Given the description of an element on the screen output the (x, y) to click on. 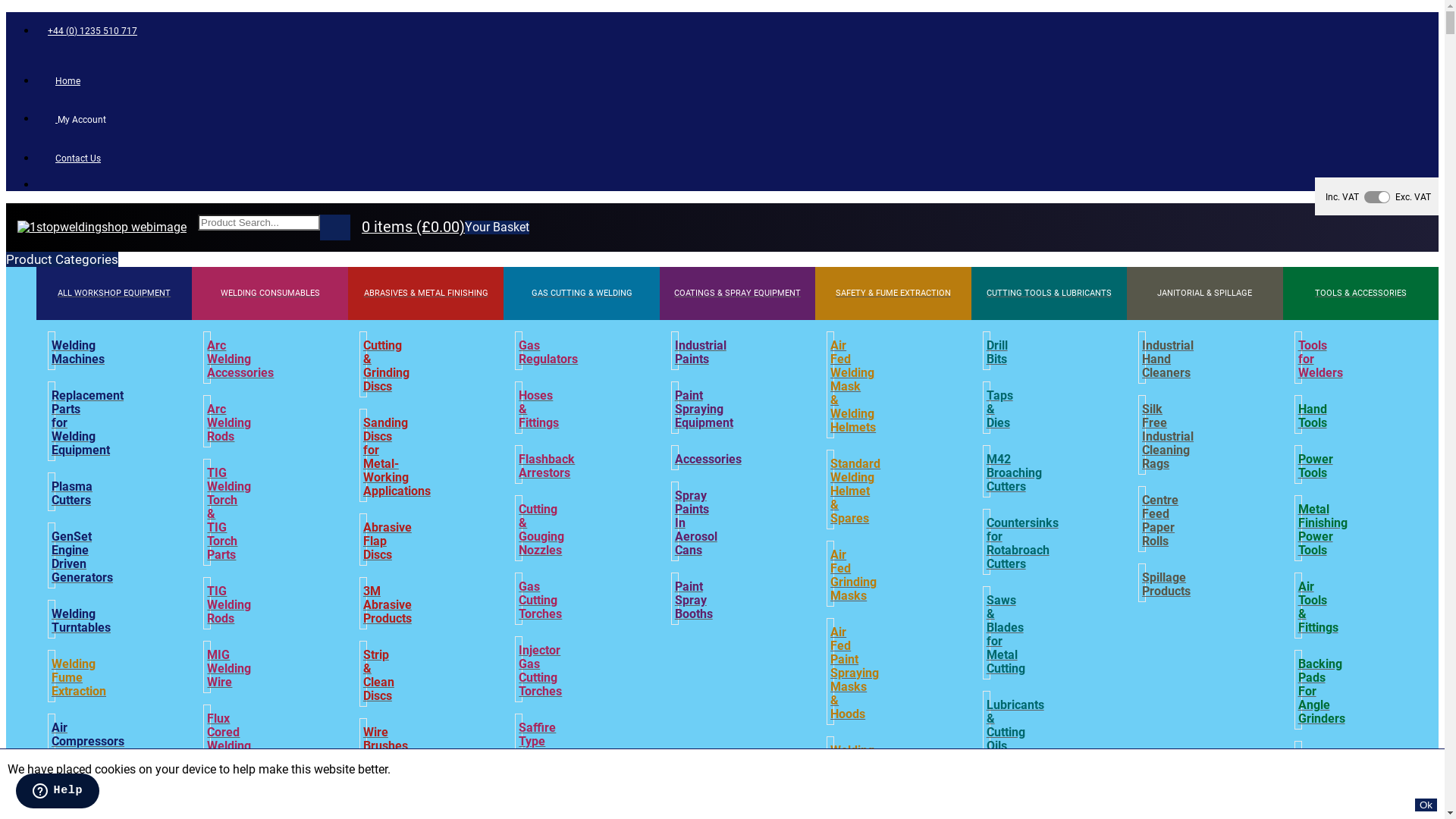
Strip & Clean Discs Element type: text (378, 675)
Spray Paints In Aerosol Cans Element type: text (695, 523)
Air Compressors Element type: text (87, 734)
Contact Us Element type: text (74, 157)
Saws & Blades for Metal Cutting Element type: text (1005, 634)
Sanding Discs for Metal-Working Applications Element type: text (396, 457)
Magnetic Drilling Machines Element type: text (77, 791)
TOOLS & ACCESSORIES Element type: text (1361, 293)
Industrial Hand Cleaners Element type: text (1167, 358)
Backing Pads For Angle Grinders Element type: text (1321, 691)
CUTTING TOOLS & LUBRICANTS Element type: text (1048, 293)
+44 (0) 1235 510 717 Element type: text (92, 29)
Power Tools Element type: text (1315, 466)
Hand Tools Element type: text (1312, 415)
GenSet Engine Driven Generators Element type: text (81, 557)
Arc Welding Accessories Element type: text (240, 358)
Replacement Parts for Welding Equipment Element type: text (87, 423)
COATINGS & SPRAY EQUIPMENT Element type: text (737, 293)
ABRASIVES & METAL FINISHING Element type: text (425, 293)
Tools for Welders Element type: text (1320, 358)
M42 Broaching Cutters Element type: text (1013, 472)
Industrial Paints Element type: text (700, 352)
Gas Regulators Element type: text (547, 352)
Ok Element type: text (1426, 804)
Cutting & Gouging Nozzles Element type: text (541, 529)
MIG Welding Wire Element type: text (229, 668)
Cutting & Grinding Discs Element type: text (386, 365)
Welding Turntables Element type: text (80, 620)
Taps & Dies Element type: text (999, 409)
Lubricants & Cutting Oils Element type: text (1015, 725)
Abrasive Flap Discs Element type: text (387, 540)
SAFETY & FUME EXTRACTION Element type: text (892, 293)
Drill Bits Element type: text (996, 352)
Flux Cored Welding Wire Element type: text (229, 739)
Your Basket Element type: text (496, 227)
Accessories Element type: text (707, 459)
Standard Welding Helmet & Spares Element type: text (855, 491)
Silk Free Industrial Cleaning Rags Element type: text (1167, 436)
Product Categories Element type: text (62, 258)
TIG Welding Rods Element type: text (229, 604)
Plasma Cutters Element type: text (71, 493)
Home Element type: text (63, 80)
Welding Fume Extraction Element type: text (857, 763)
Opens a widget where you can chat to one of our agents Element type: hover (57, 792)
Air Fed Paint Spraying Masks & Hoods Element type: text (854, 673)
WELDING CONSUMABLES Element type: text (269, 293)
Countersinks for Rotabroach Cutters Element type: text (1022, 543)
Paint Spraying Equipment Element type: text (703, 409)
Spillage Products Element type: text (1166, 584)
Paint Spray Booths Element type: text (693, 600)
Welding Fume Extraction Element type: text (78, 677)
TIG Welding Torch & TIG Torch Parts Element type: text (229, 513)
JANITORIAL & SPILLAGE Element type: text (1204, 293)
Air Fed Welding Mask & Welding Helmets Element type: text (852, 386)
3M Abrasive Products Element type: text (387, 604)
Wire Brushes Element type: text (1320, 761)
Hoses & Fittings Element type: text (538, 409)
Gas Cutting Torches Element type: text (539, 600)
ALL WORKSHOP EQUIPMENT Element type: text (113, 293)
Injector Gas Cutting Torches Element type: text (539, 670)
Flashback Arrestors Element type: text (546, 466)
GAS CUTTING & WELDING Element type: text (580, 293)
Centre Feed Paper Rolls Element type: text (1160, 520)
Air Tools & Fittings Element type: text (1318, 607)
Arc Welding Rods Element type: text (229, 422)
My Account Element type: text (76, 118)
Welding Machines Element type: text (77, 352)
Submit Search Element type: hover (335, 227)
Air Fed Grinding Masks Element type: text (853, 575)
Wire Brushes Element type: text (385, 739)
Metal Finishing Power Tools Element type: text (1322, 529)
